Given the description of an element on the screen output the (x, y) to click on. 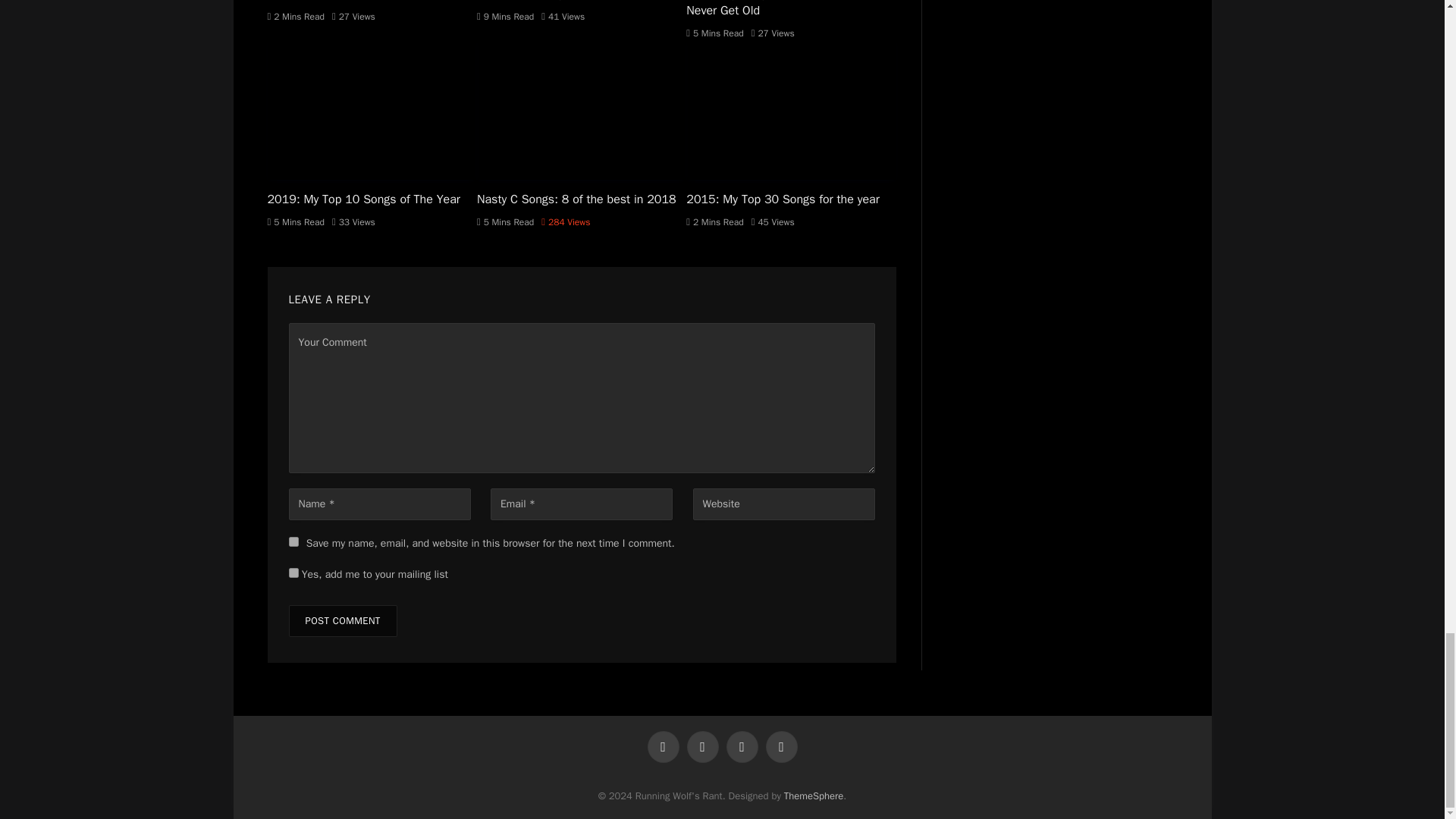
yes (293, 542)
Post Comment (342, 621)
1 (293, 573)
